Given the description of an element on the screen output the (x, y) to click on. 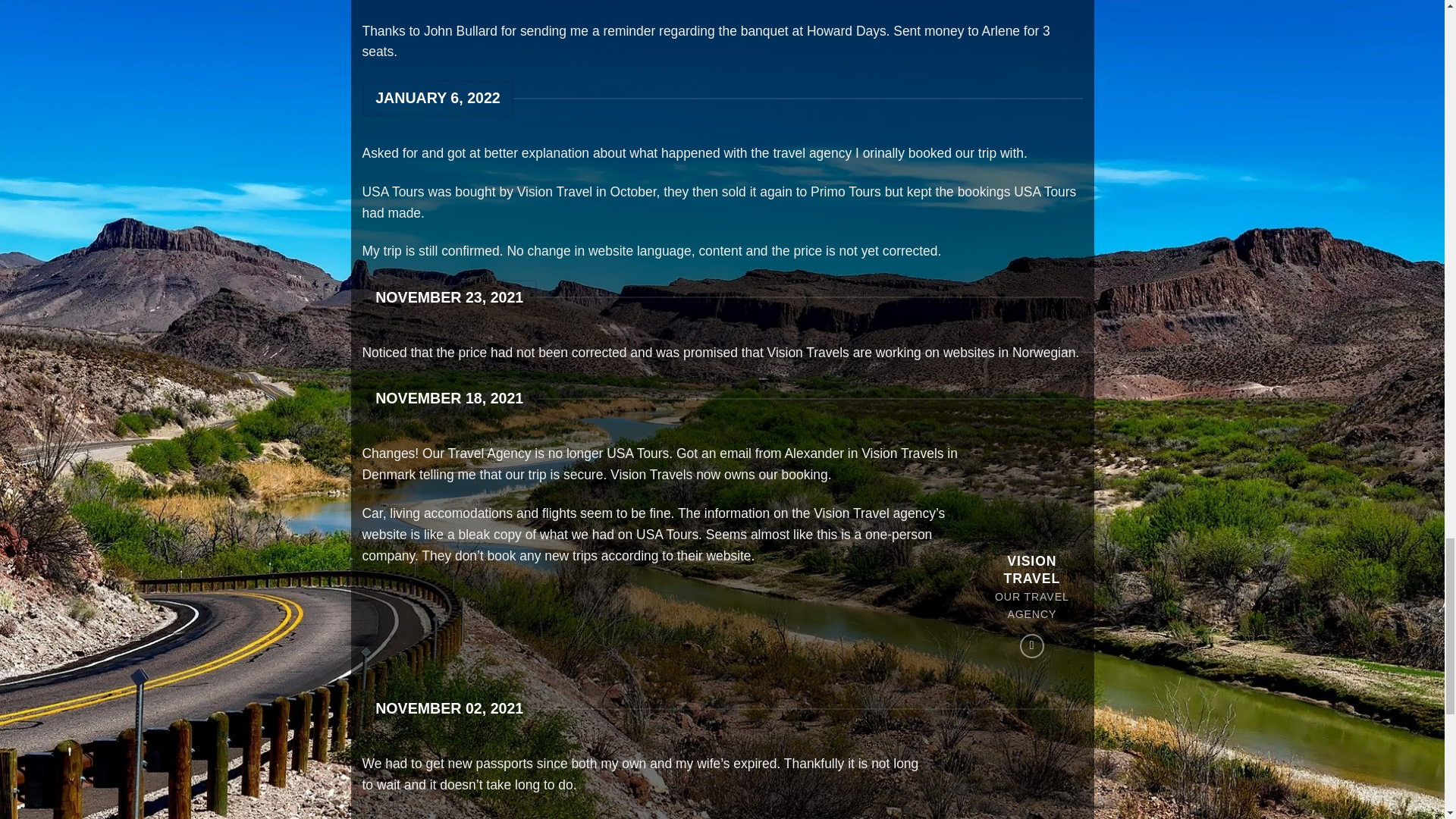
Follow on Facebook (1031, 645)
